Given the description of an element on the screen output the (x, y) to click on. 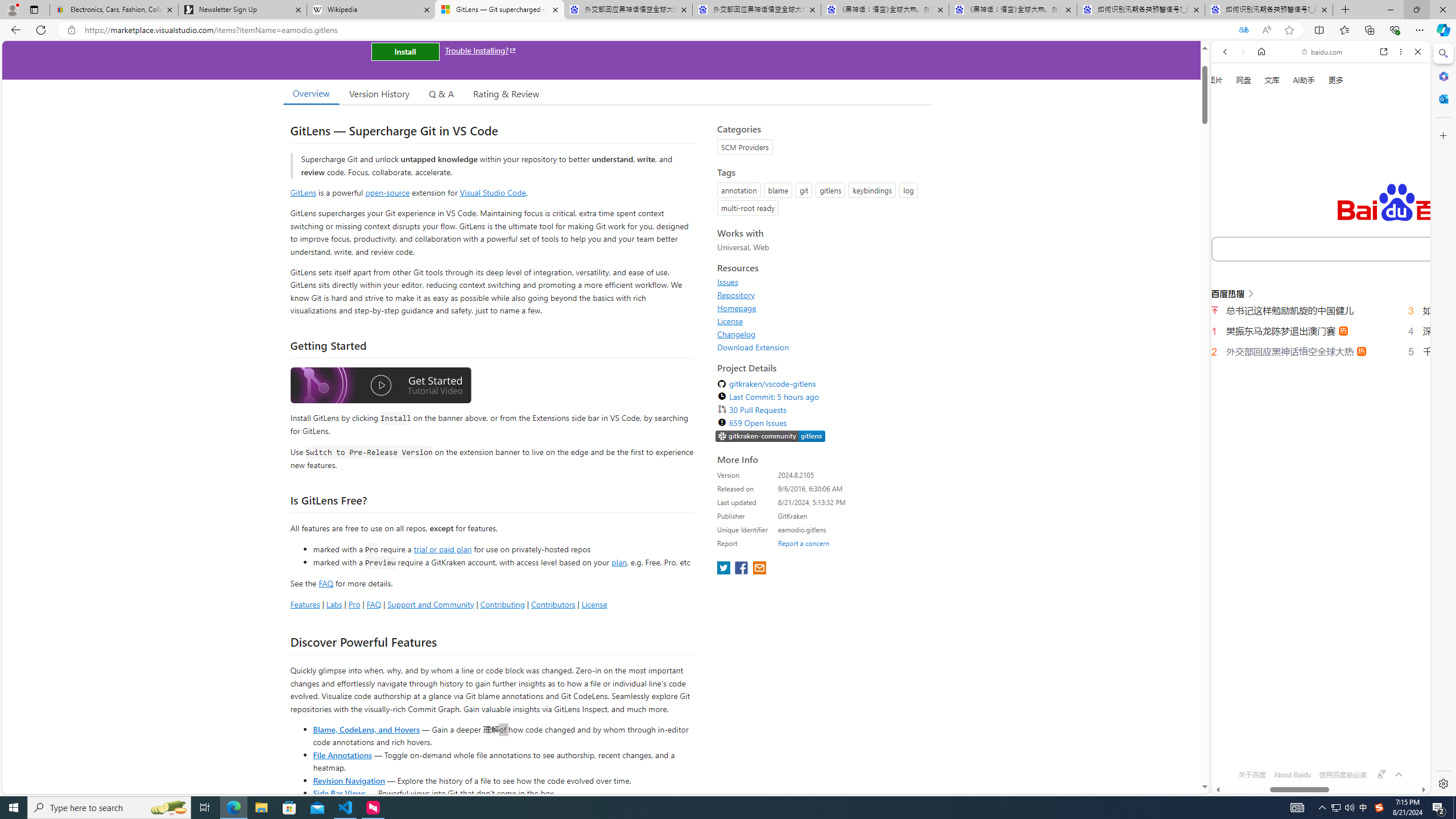
Version History (379, 92)
Issues (727, 281)
https://slack.gitkraken.com// (769, 436)
License (729, 320)
Blame, CodeLens, and Hovers (366, 728)
GitLens (303, 192)
Changelog (820, 333)
Watch the GitLens Getting Started video (380, 387)
